Given the description of an element on the screen output the (x, y) to click on. 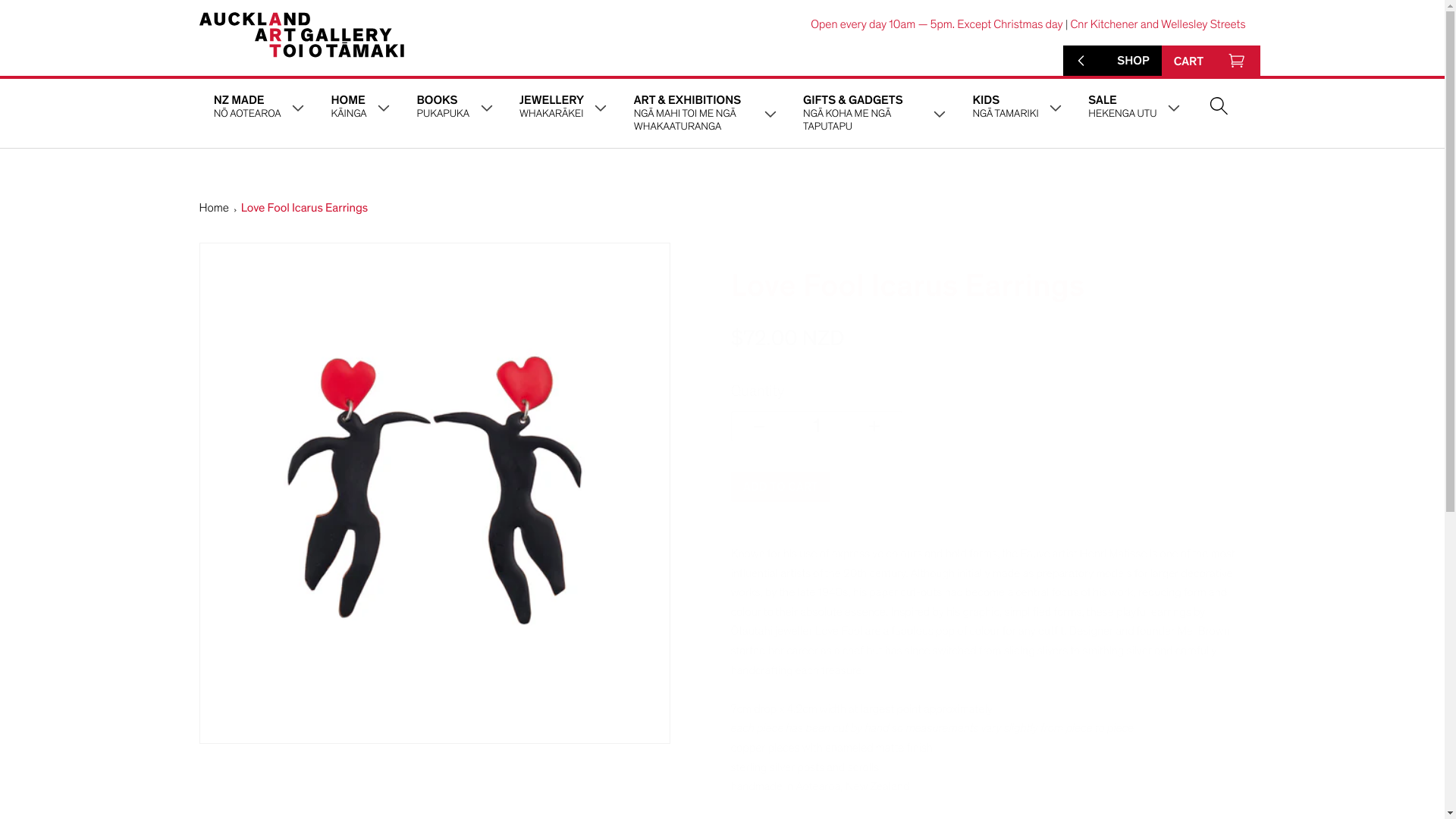
CART (1236, 60)
1 (815, 426)
Opening hours (937, 23)
Google Maps Link (1157, 23)
Getting here (602, 567)
